Given the description of an element on the screen output the (x, y) to click on. 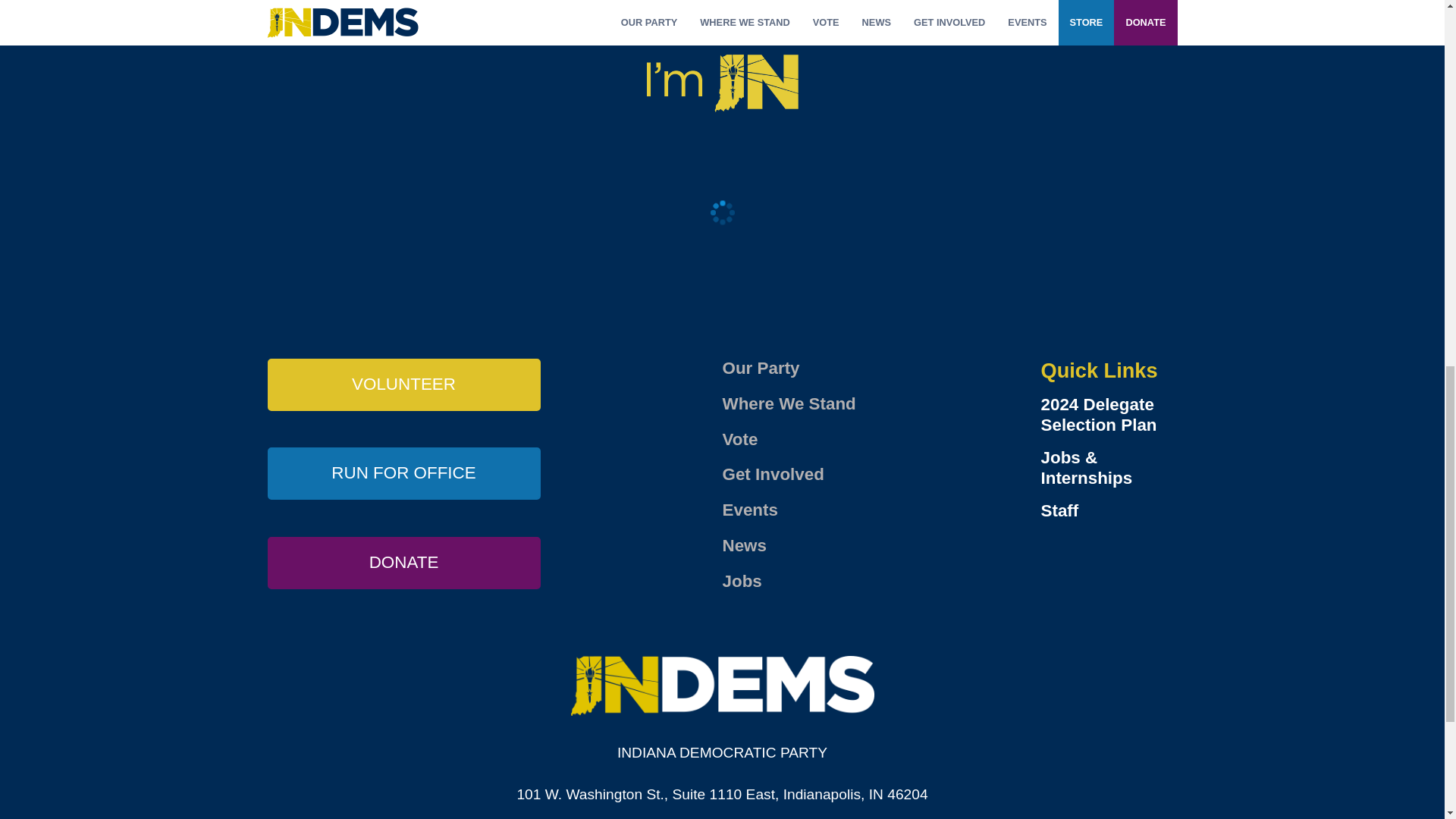
Our Party (760, 367)
RUN FOR OFFICE (403, 473)
VOLUNTEER (403, 384)
DONATE (403, 562)
